Given the description of an element on the screen output the (x, y) to click on. 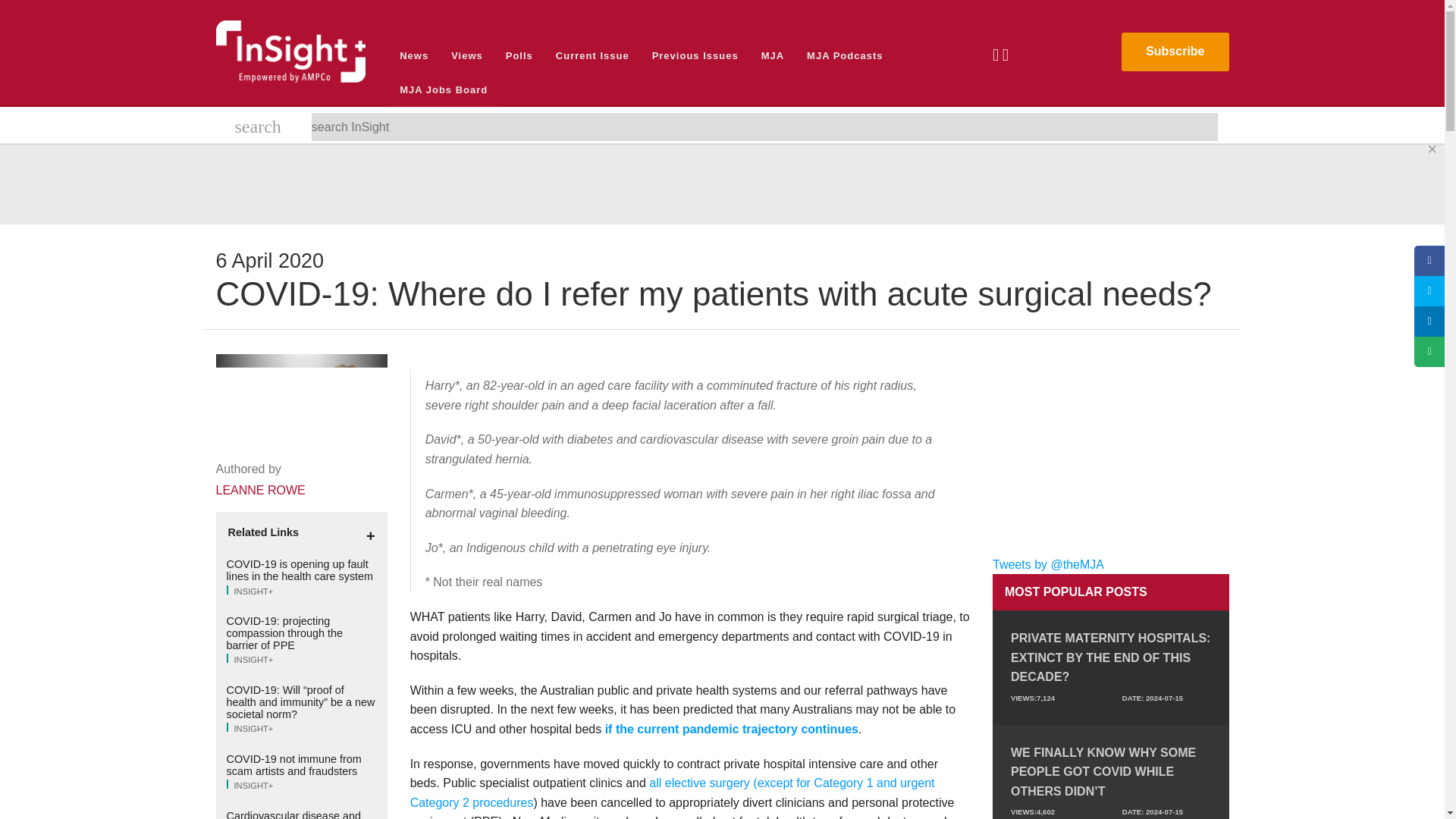
Related Links (301, 532)
MJA Jobs Board (443, 89)
News (413, 55)
if the current pandemic trajectory continues (732, 728)
Views (467, 55)
Subscribe (1174, 51)
Previous Issues (694, 55)
search (257, 129)
Polls (519, 55)
Current Issue (592, 55)
MJA Podcasts (843, 55)
MJA (771, 55)
